Given the description of an element on the screen output the (x, y) to click on. 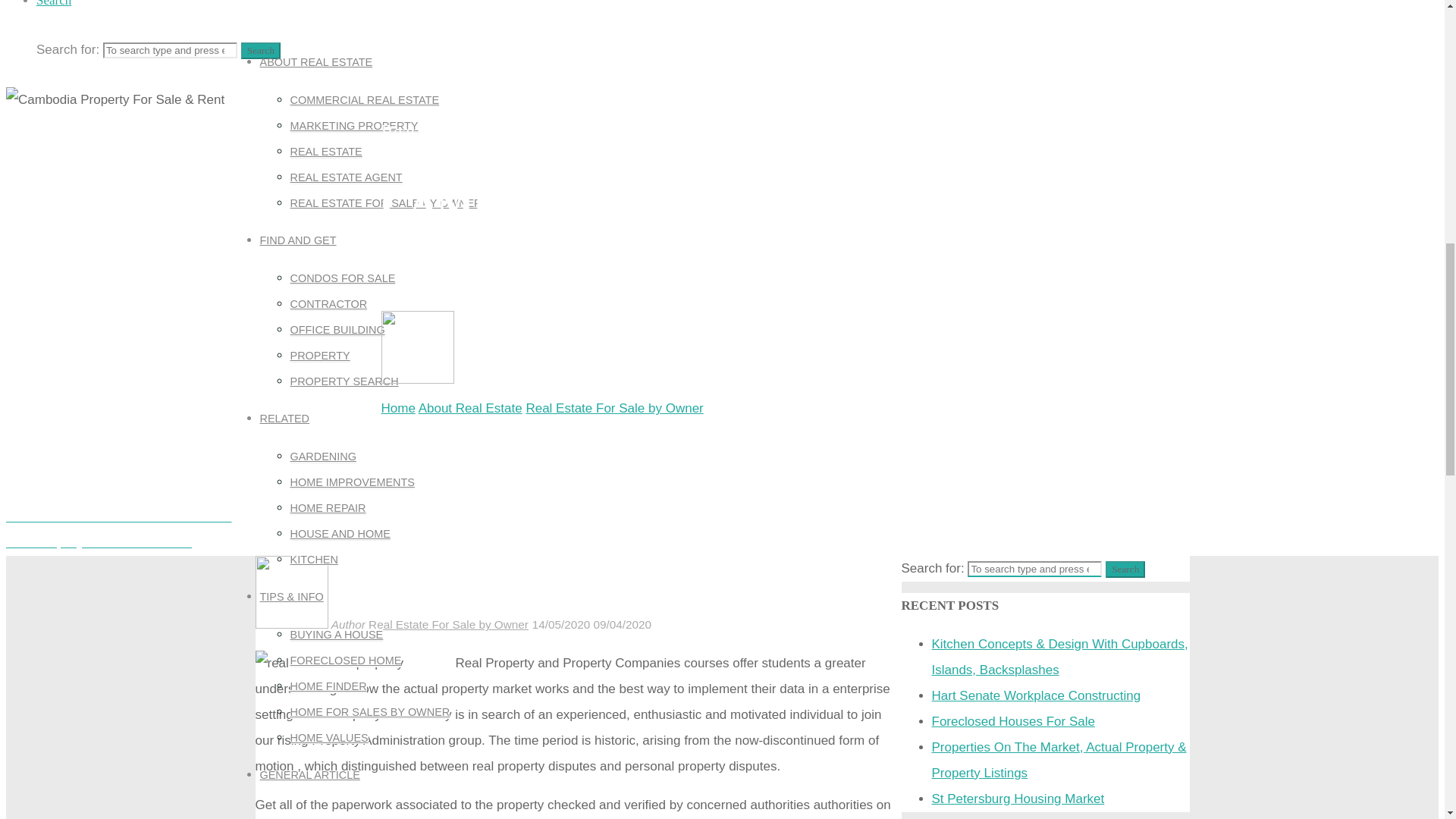
Home (397, 408)
Search (261, 50)
ABOUT REAL ESTATE (315, 61)
View all posts by Author (483, 376)
REAL ESTATE AGENT (345, 177)
Search (53, 3)
View all posts by Author (347, 624)
COMMERCIAL REAL ESTATE (364, 100)
REAL ESTATE FOR SALE BY OWNER (385, 203)
REAL ESTATE (325, 151)
CONDOS FOR SALE (341, 277)
MARKETING PROPERTY (353, 125)
FIND AND GET (297, 240)
